Given the description of an element on the screen output the (x, y) to click on. 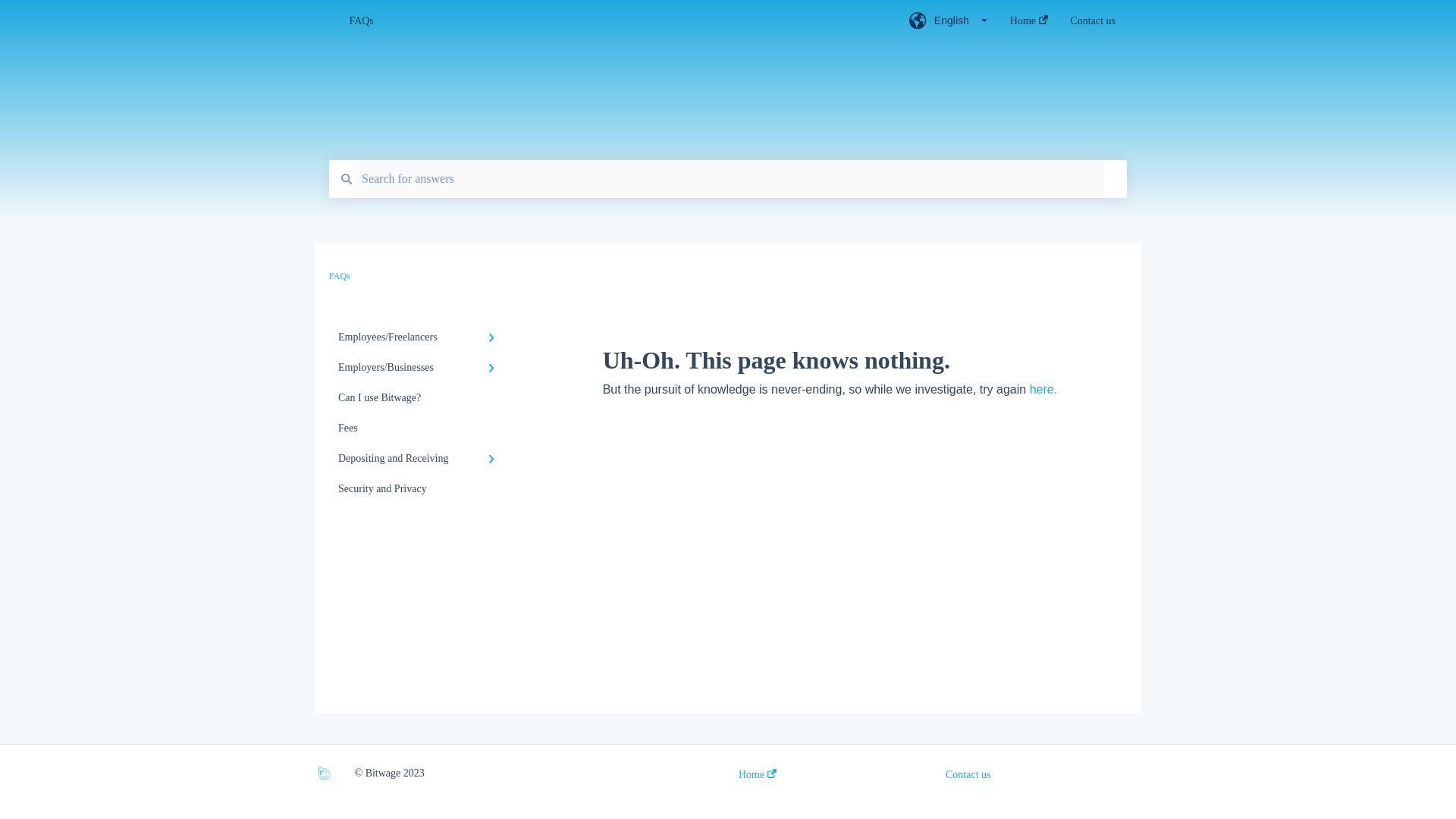
English (947, 25)
FAQs (606, 21)
Contact us (1093, 25)
FAQs (339, 276)
